Given the description of an element on the screen output the (x, y) to click on. 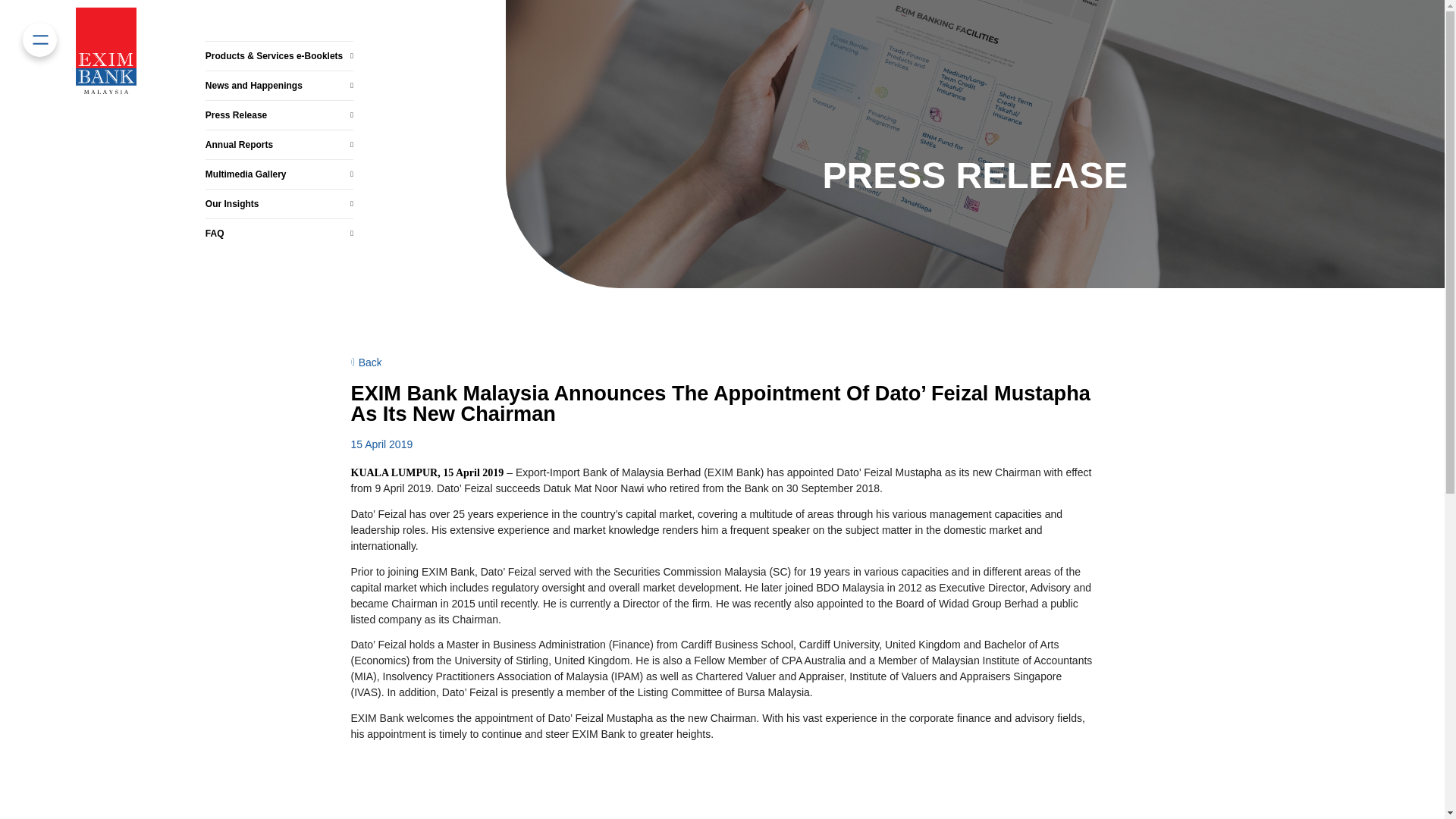
Our Insights (279, 194)
Annual Reports (279, 131)
Back (365, 361)
Press Release (279, 97)
FAQ (279, 226)
News and Happenings (279, 62)
Multimedia Gallery (279, 164)
